Given the description of an element on the screen output the (x, y) to click on. 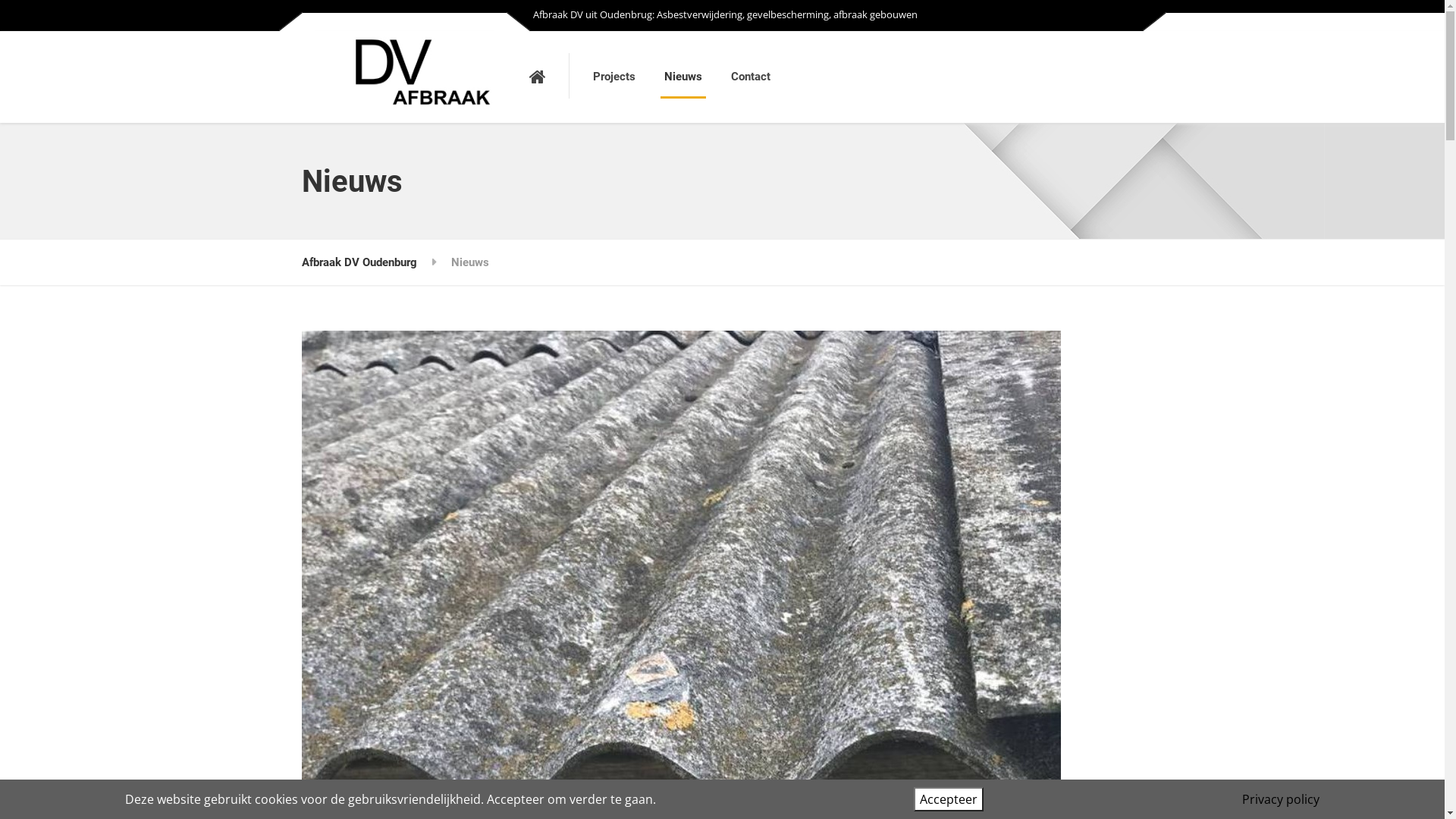
Nieuws Element type: text (682, 76)
Projects Element type: text (613, 76)
Accepteer Element type: text (948, 799)
Contact Element type: text (749, 76)
Afbraak DV Oudenburg Element type: text (359, 262)
Privacy policy Element type: text (1280, 799)
